Given the description of an element on the screen output the (x, y) to click on. 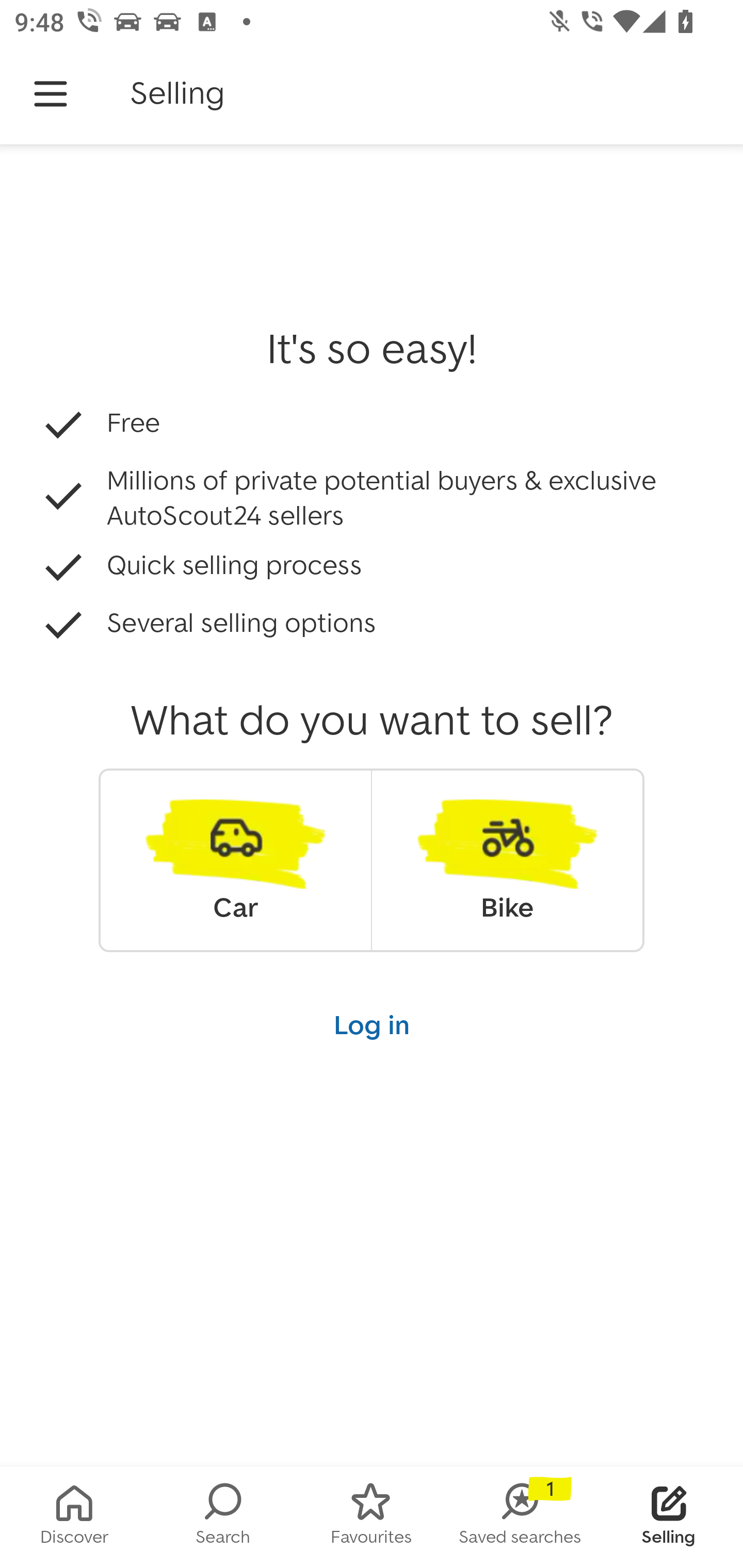
Navigate up (50, 93)
Car (235, 859)
Bike (507, 859)
Log in (371, 1024)
HOMESCREEN Discover (74, 1517)
SEARCH Search (222, 1517)
FAVORITES Favourites (371, 1517)
SAVED_SEARCHES Saved searches 1 (519, 1517)
STOCK_LIST Selling (668, 1517)
